Given the description of an element on the screen output the (x, y) to click on. 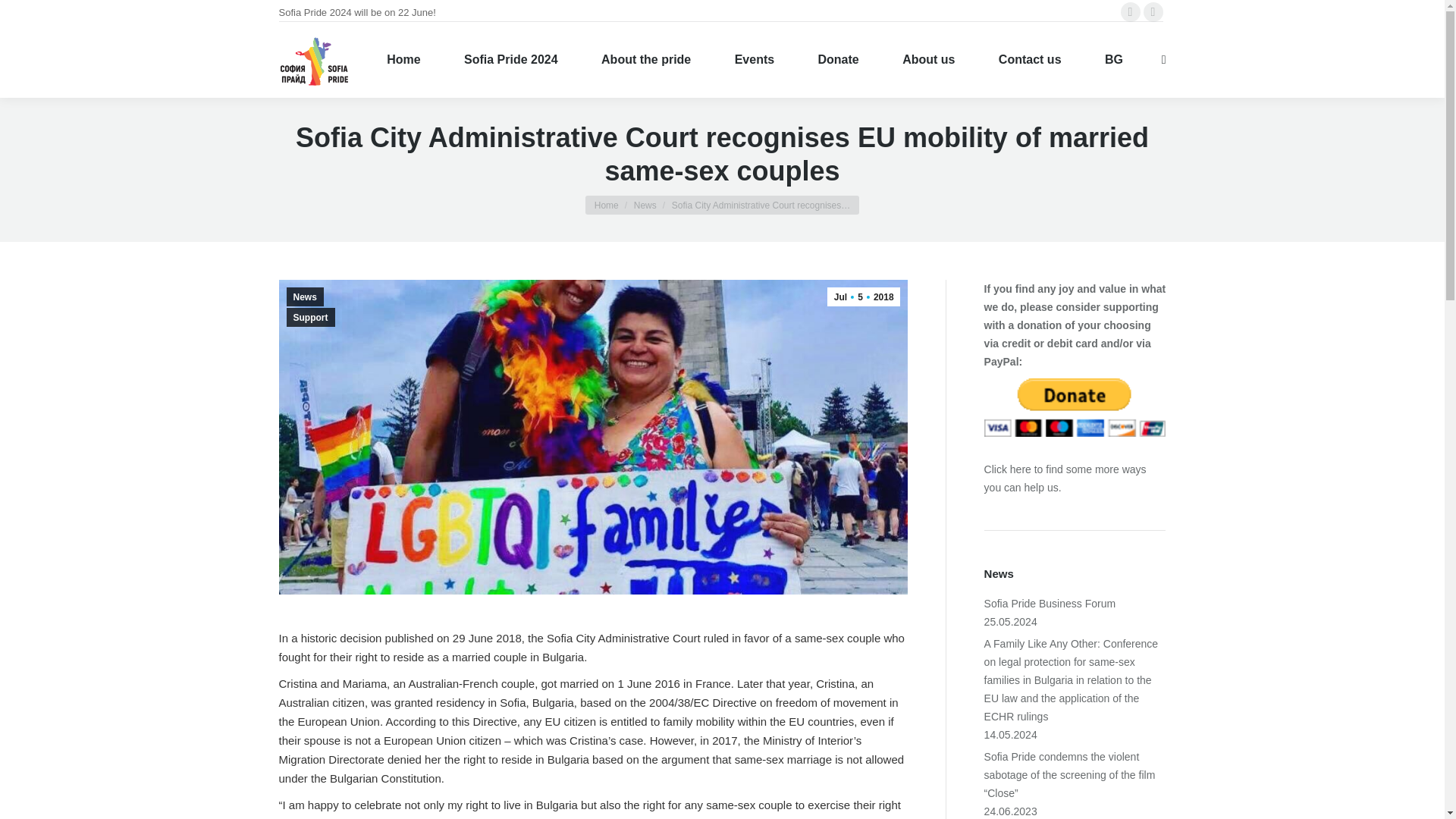
News (644, 204)
Donate (838, 60)
YouTube page opens in new window (1152, 12)
Home (606, 204)
BG (1113, 60)
Go! (24, 16)
YouTube page opens in new window (1152, 12)
About the pride (646, 60)
News (644, 204)
Facebook page opens in new window (1130, 12)
Events (754, 60)
About us (927, 60)
Home (403, 60)
Facebook page opens in new window (1130, 12)
